Given the description of an element on the screen output the (x, y) to click on. 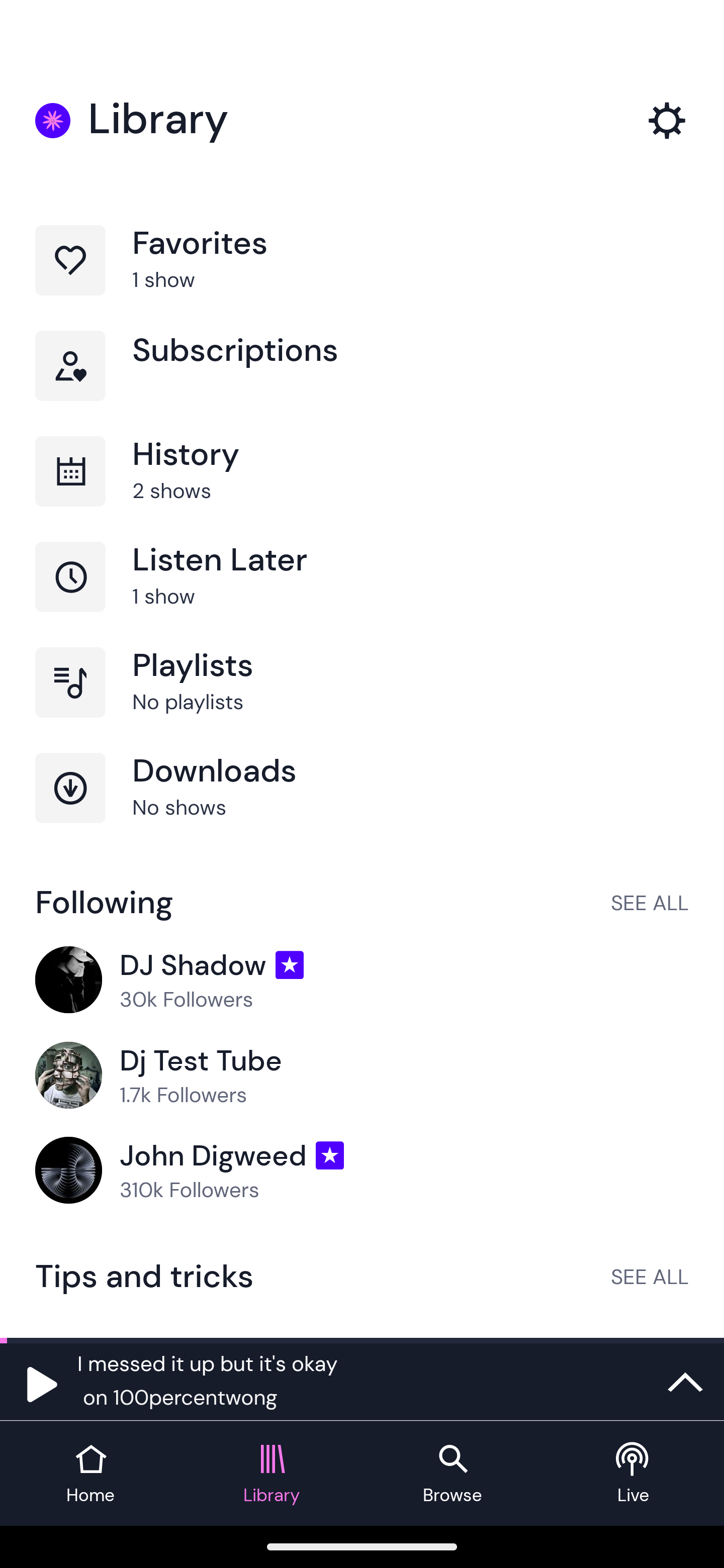
Favorites, 1 show Favorites 1 show (361, 277)
Subscriptions (361, 382)
History, 2 shows History 2 shows (361, 488)
Listen Later, 1 show Listen Later 1 show (361, 594)
Playlists, No playlists Playlists No playlists (361, 699)
Downloads, No shows Downloads No shows (361, 804)
SEE ALL (649, 902)
DJ Shadow, 30k Followers DJ Shadow 30k Followers (361, 980)
SEE ALL (649, 1276)
Home tab Home (90, 1473)
Library tab Library (271, 1473)
Browse tab Browse (452, 1473)
Live tab Live (633, 1473)
